Given the description of an element on the screen output the (x, y) to click on. 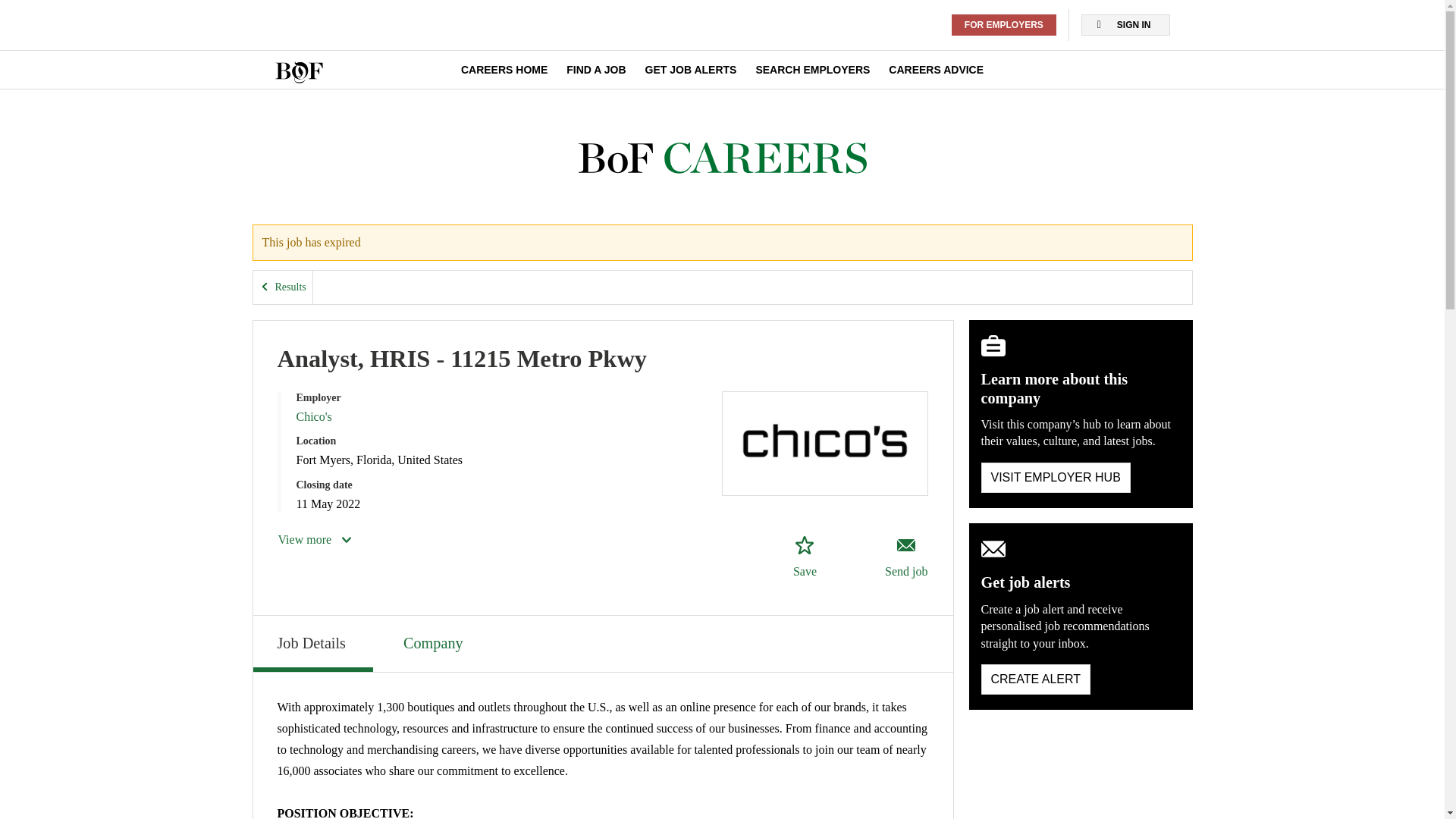
CAREERS ADVICE (936, 69)
Company (434, 641)
GET JOB ALERTS (690, 69)
Job Details (312, 643)
FOR EMPLOYERS (1004, 25)
CREATE ALERT (1035, 679)
FIND A JOB (596, 69)
CAREERS HOME (504, 69)
Chico's (313, 416)
VISIT EMPLOYER HUB (1056, 477)
SEARCH EMPLOYERS (812, 69)
BoF Careers (722, 158)
Results (283, 287)
View more (315, 539)
SIGN IN (1125, 25)
